Given the description of an element on the screen output the (x, y) to click on. 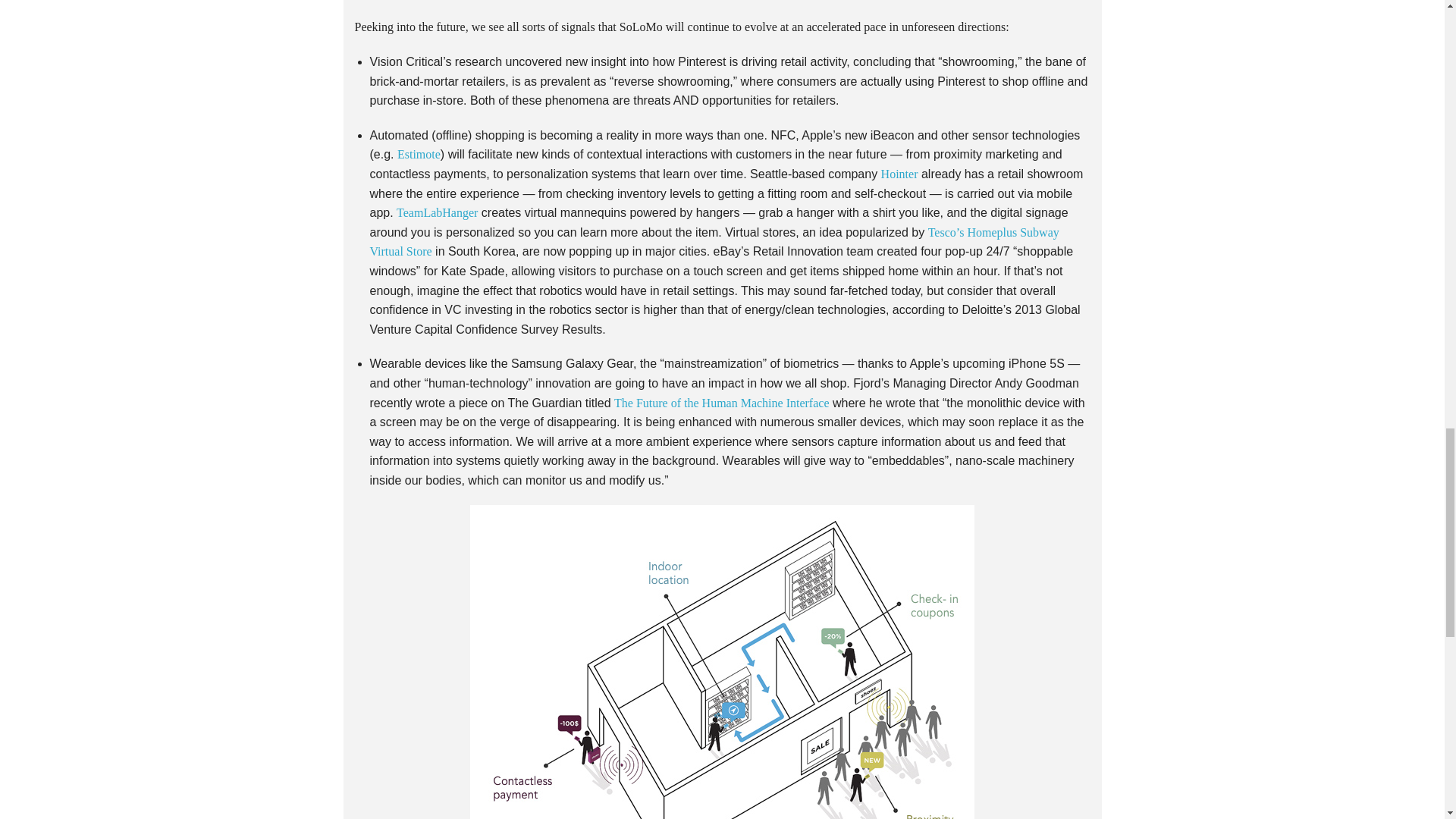
Hointer (899, 173)
Estimote (419, 154)
TeamLabHanger (436, 212)
The Future of the Human Machine Interface (721, 402)
